Given the description of an element on the screen output the (x, y) to click on. 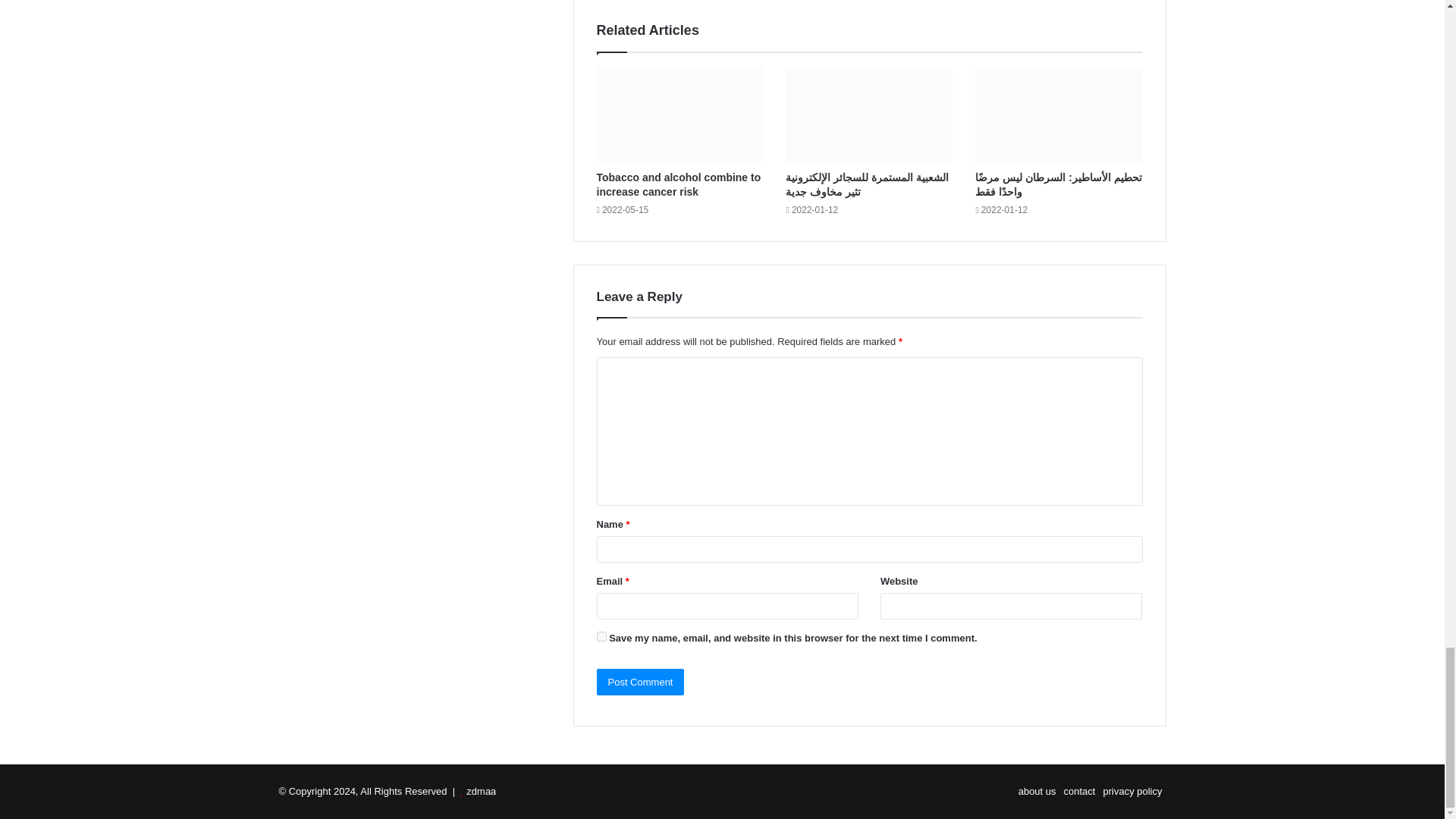
Post Comment (639, 682)
yes (600, 636)
